Given the description of an element on the screen output the (x, y) to click on. 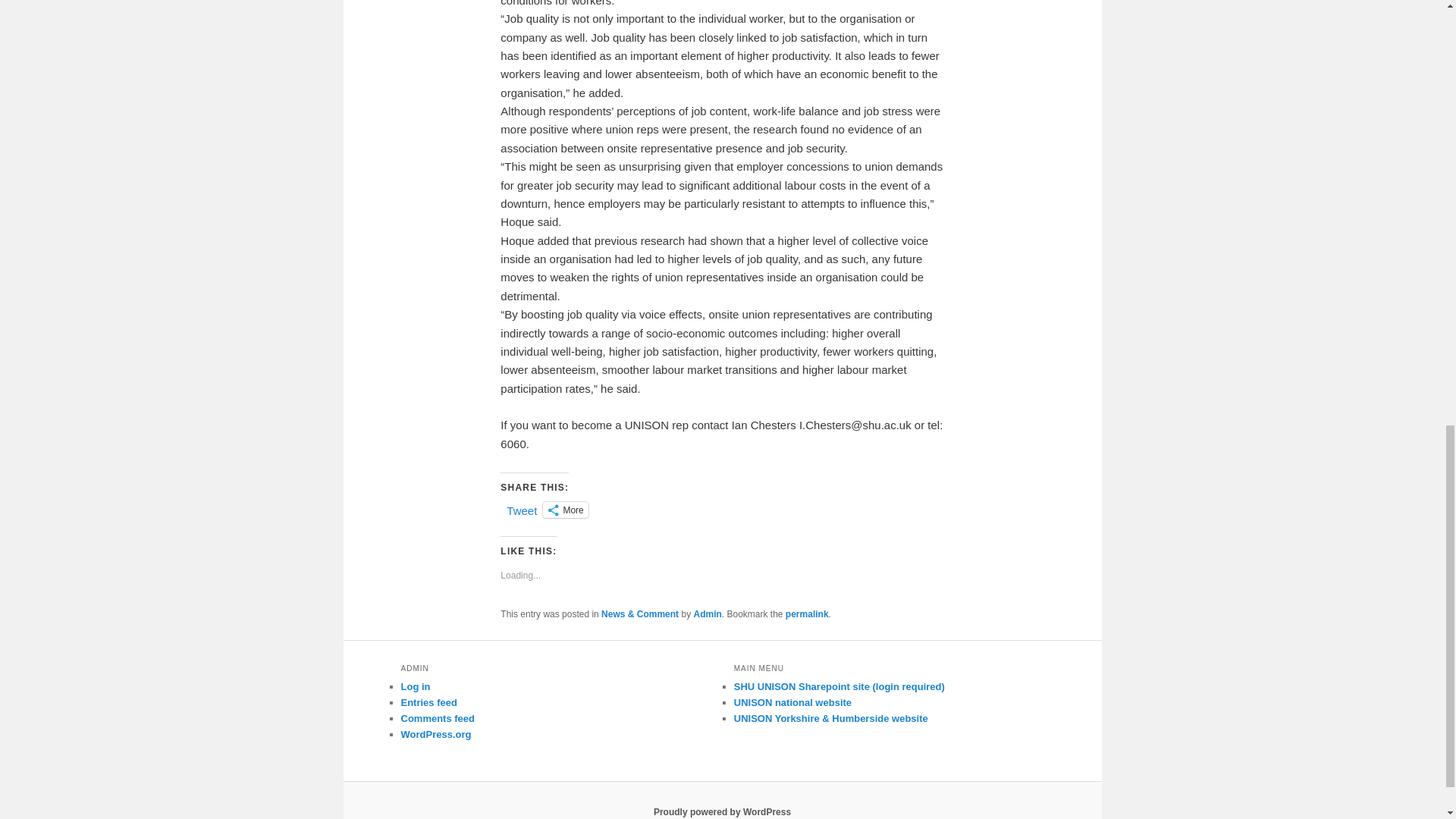
permalink (807, 614)
Sign me up! (1320, 72)
Semantic Personal Publishing Platform (721, 811)
Log in (414, 686)
Admin (706, 614)
Email Address (1348, 41)
Tweet (521, 508)
More (565, 509)
